Given the description of an element on the screen output the (x, y) to click on. 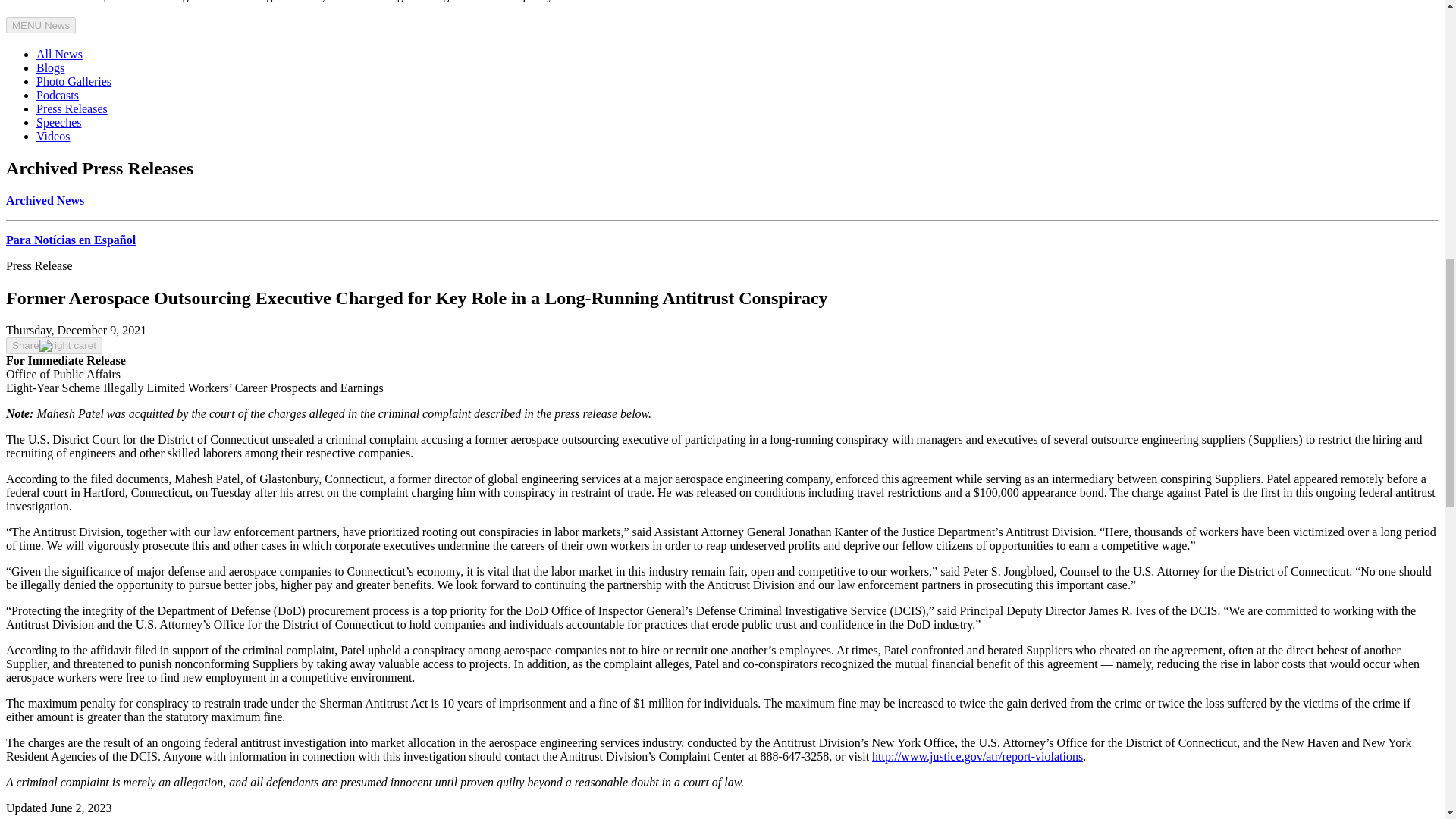
All News (59, 53)
Photo Galleries (74, 81)
Podcasts (57, 94)
Blogs (50, 67)
MENU News (40, 25)
Press Releases (71, 108)
